Given the description of an element on the screen output the (x, y) to click on. 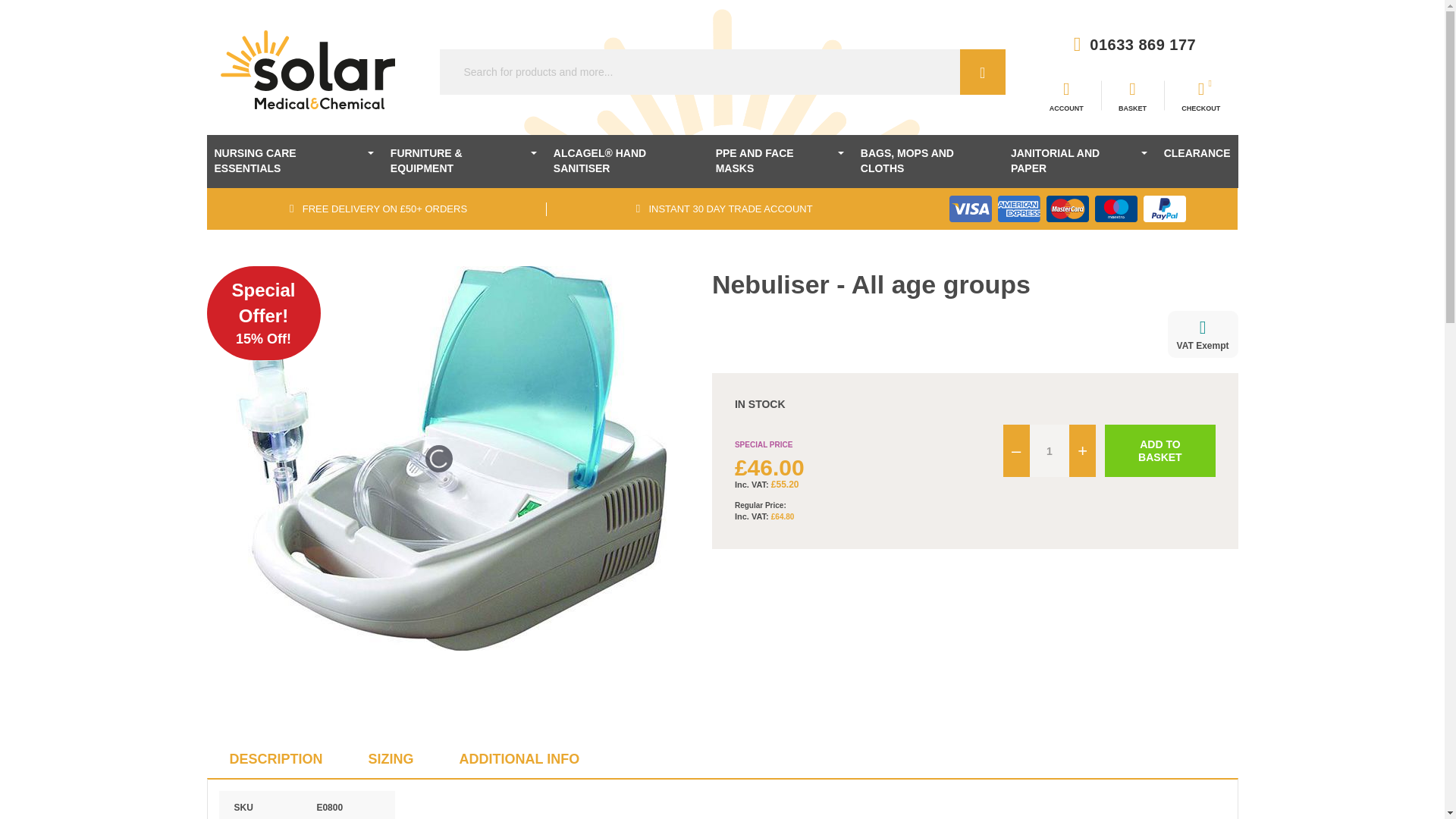
Search (982, 72)
PPE AND FACE MASKS (780, 161)
ACCOUNT (1065, 94)
JANITORIAL AND PAPER (1079, 161)
Search (982, 72)
Add to Basket (1159, 451)
CHECKOUT (1200, 94)
BASKET (1131, 94)
BAGS, MOPS AND CLOTHS (928, 161)
NURSING CARE ESSENTIALS (293, 161)
